Given the description of an element on the screen output the (x, y) to click on. 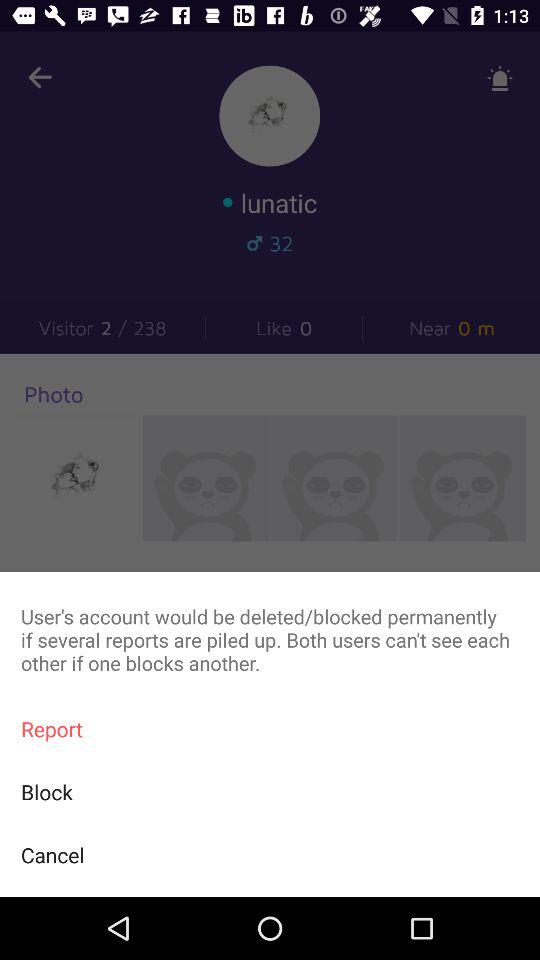
press item below the user s account (270, 728)
